Given the description of an element on the screen output the (x, y) to click on. 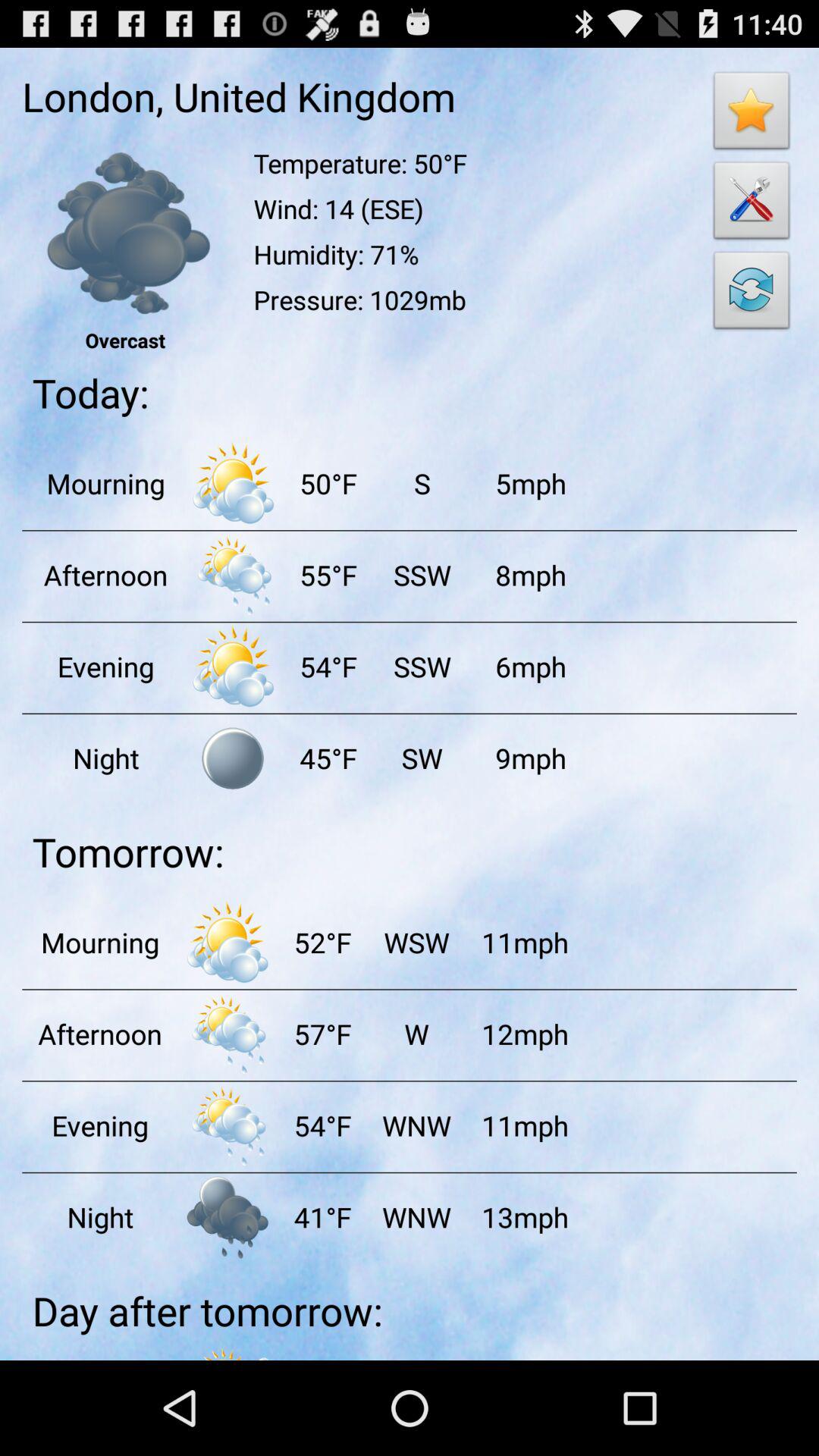
flip to the 5mph app (530, 483)
